Given the description of an element on the screen output the (x, y) to click on. 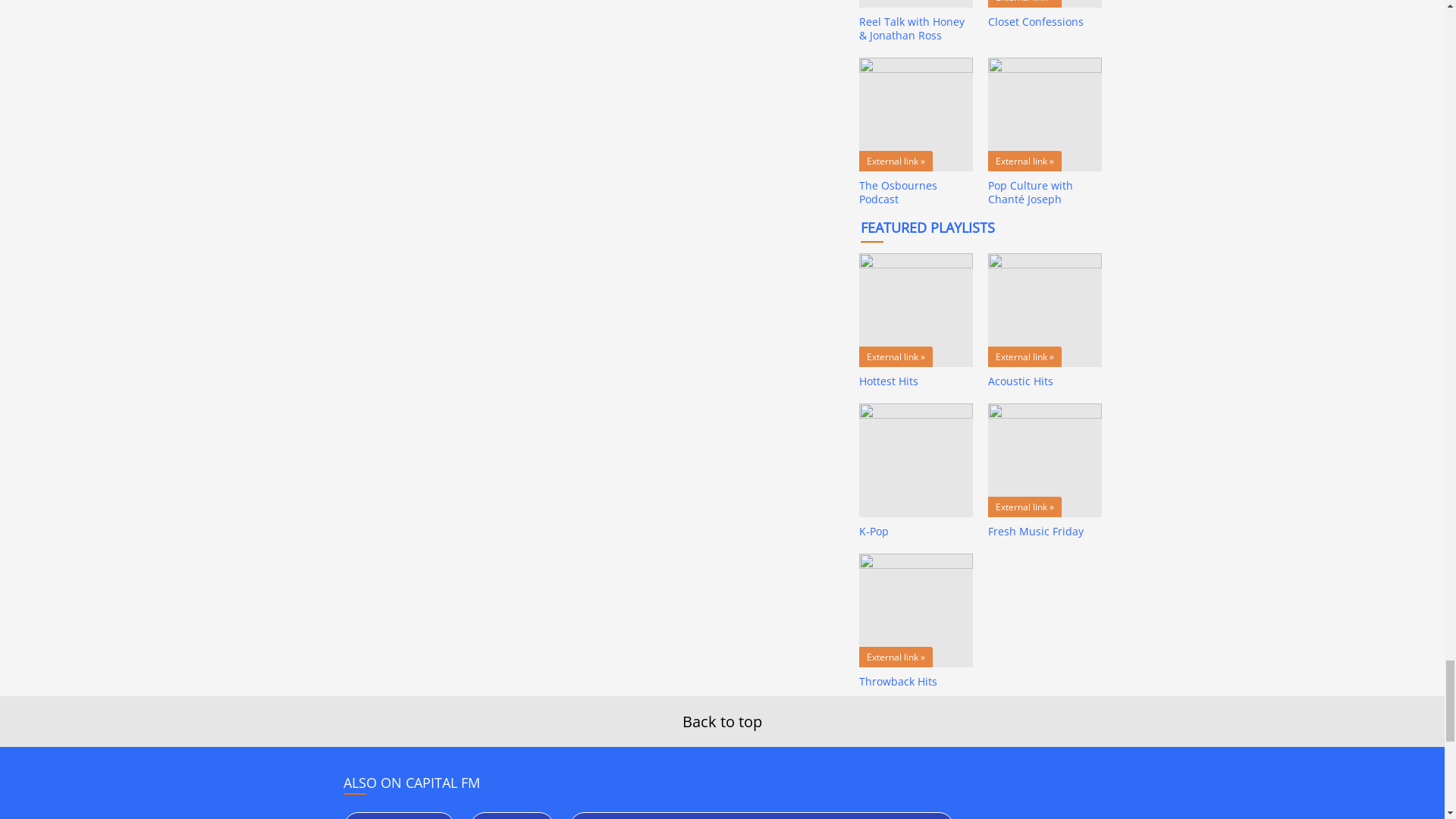
Back to top (721, 721)
